Given the description of an element on the screen output the (x, y) to click on. 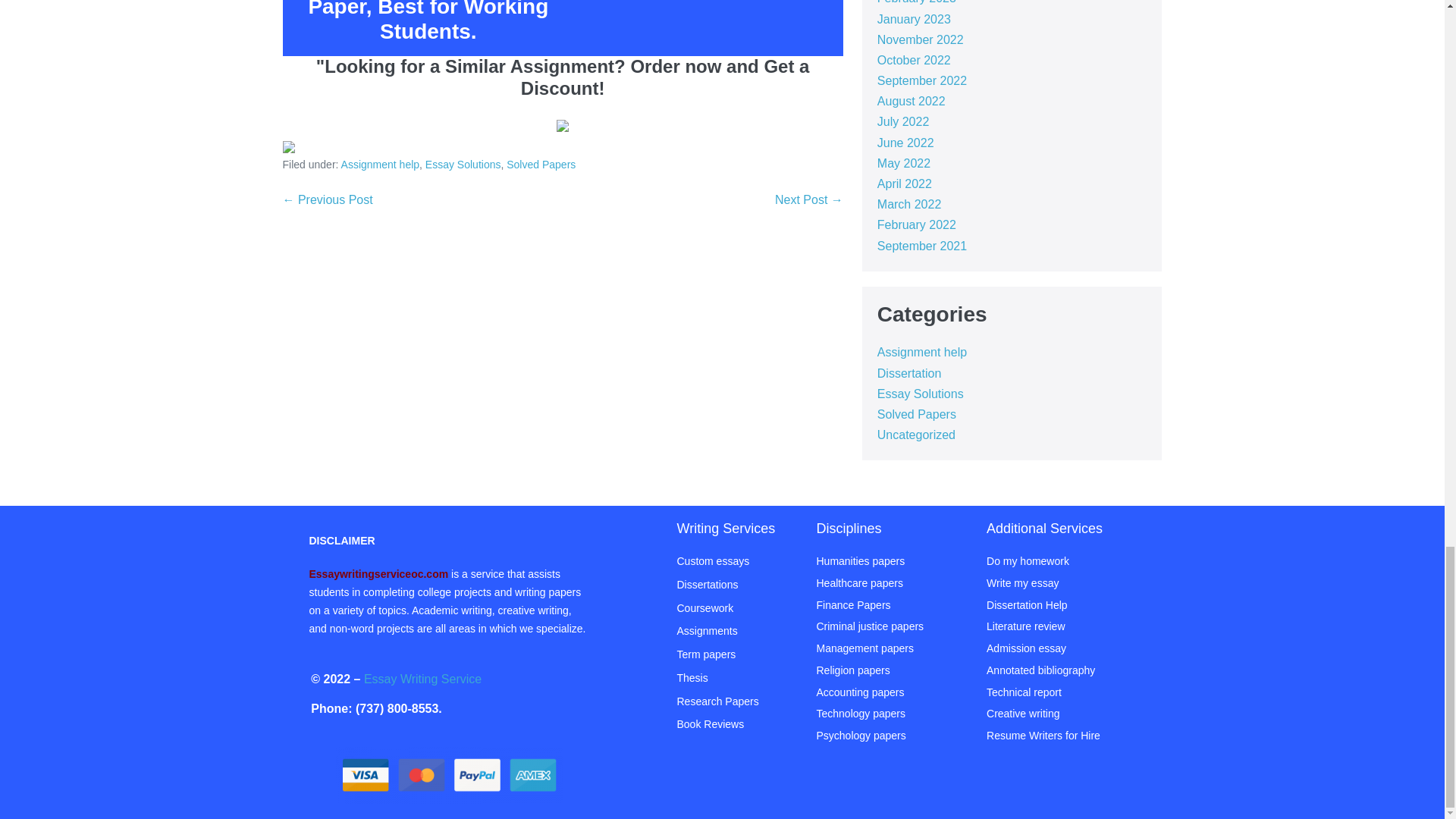
Solved Papers (540, 164)
Essay Solutions (462, 164)
Assignment help (380, 164)
